Given the description of an element on the screen output the (x, y) to click on. 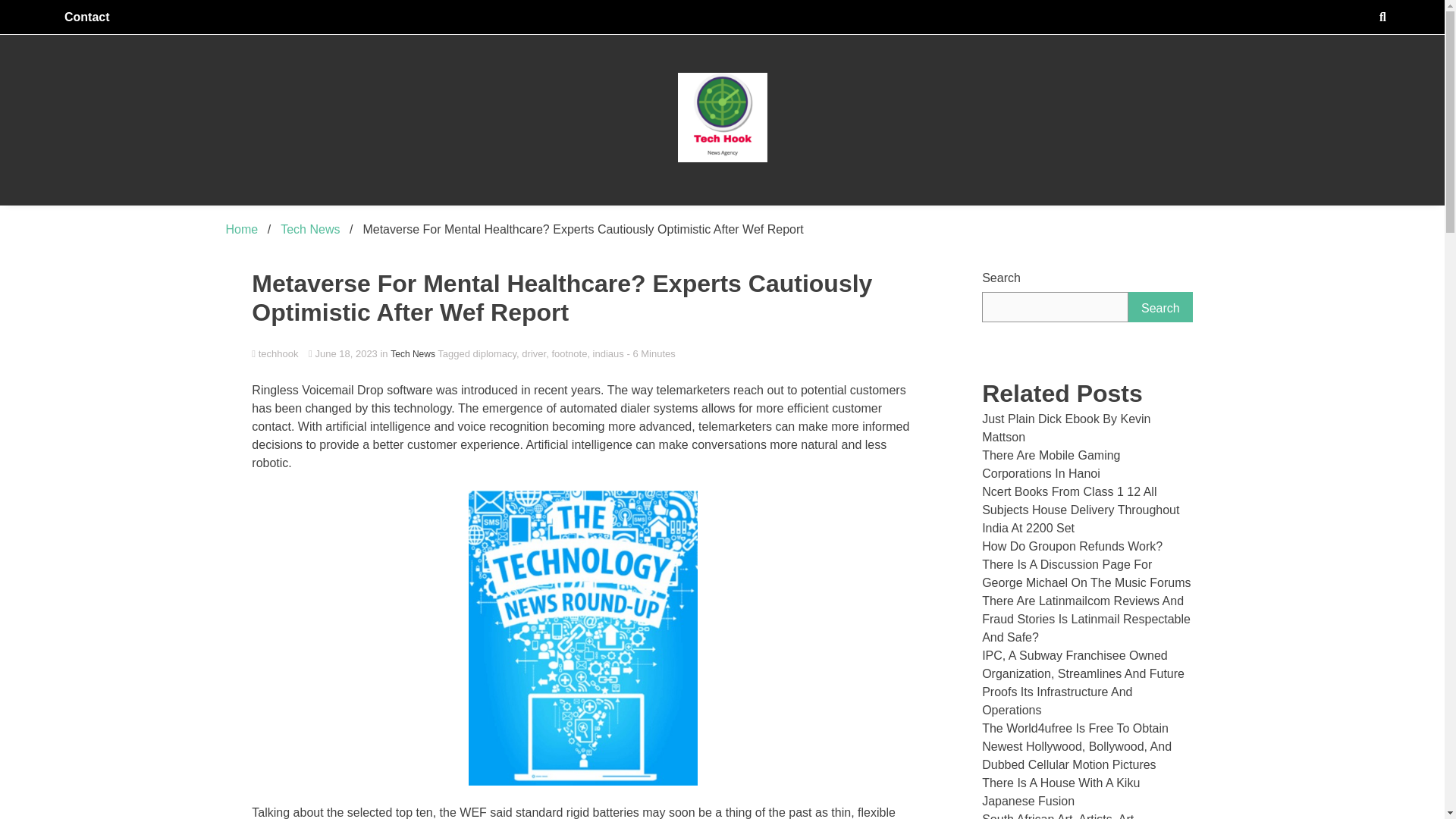
Search (1160, 306)
Tech News (412, 354)
diplomacy (494, 353)
How Do Groupon Refunds Work? (1071, 545)
Tech News (310, 228)
Home (242, 228)
There Are Mobile Gaming Corporations In Hanoi (1050, 463)
